Given the description of an element on the screen output the (x, y) to click on. 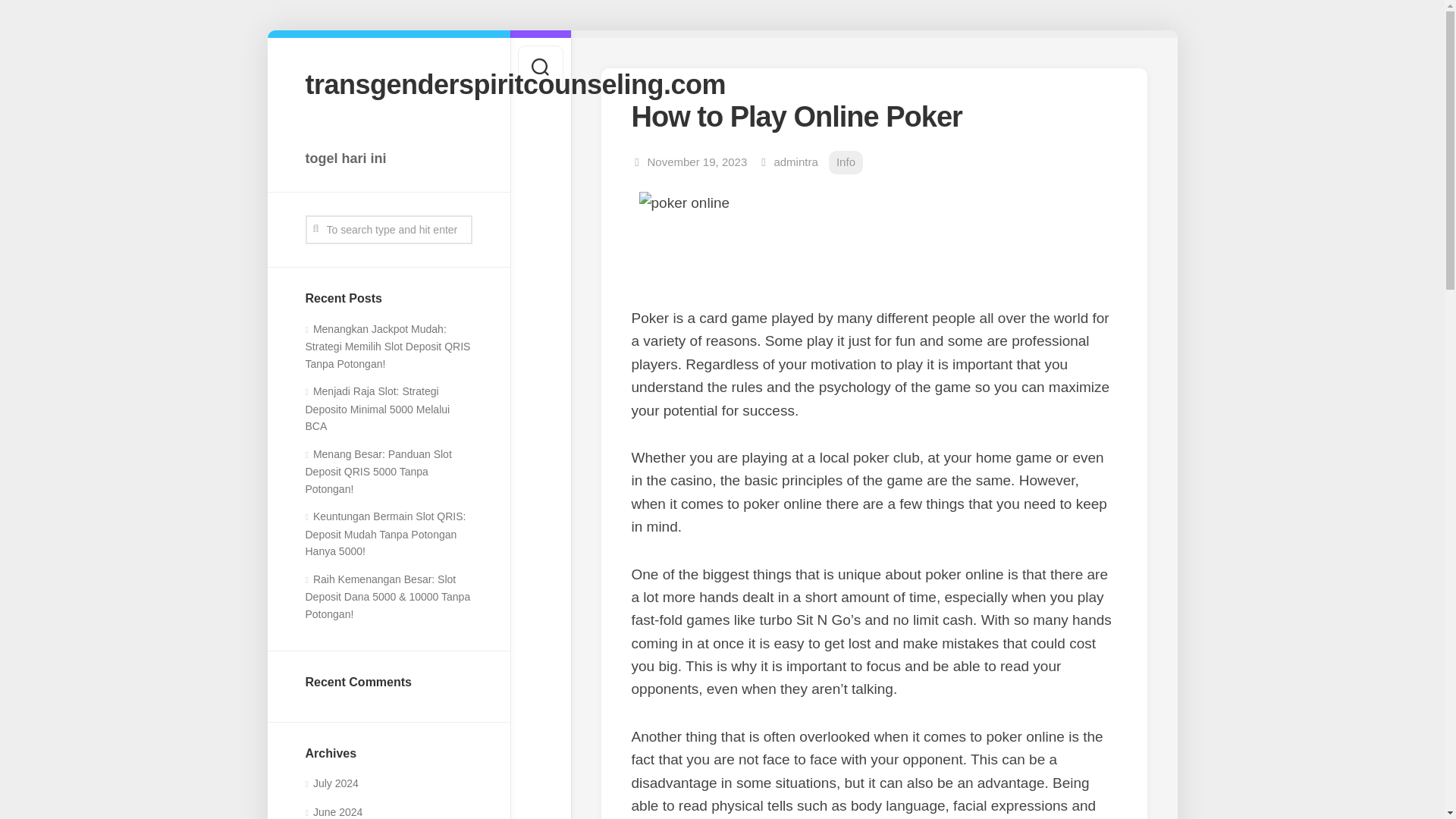
Menang Besar: Panduan Slot Deposit QRIS 5000 Tanpa Potongan! (377, 471)
transgenderspiritcounseling.com (387, 83)
togel hari ini (387, 158)
To search type and hit enter (387, 229)
To search type and hit enter (387, 229)
Posts by admintra (794, 161)
June 2024 (333, 811)
July 2024 (331, 783)
